Given the description of an element on the screen output the (x, y) to click on. 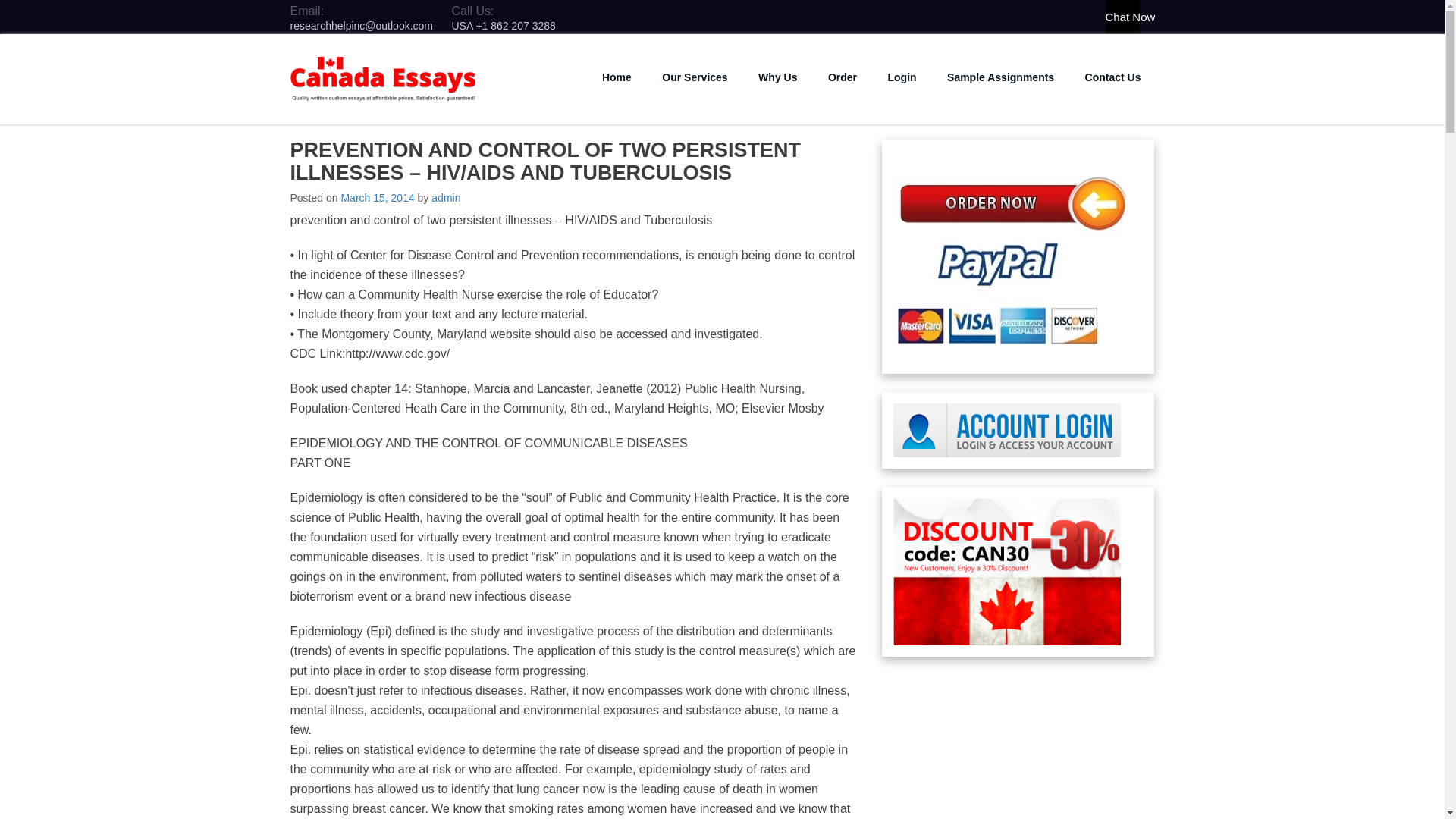
Chat Now (1122, 17)
admin (445, 197)
Canada Essays (373, 112)
Contact Us (1112, 77)
Solutions by our experts (1000, 77)
March 15, 2014 (376, 197)
Sample Assignments (1000, 77)
Our Services (694, 77)
